Given the description of an element on the screen output the (x, y) to click on. 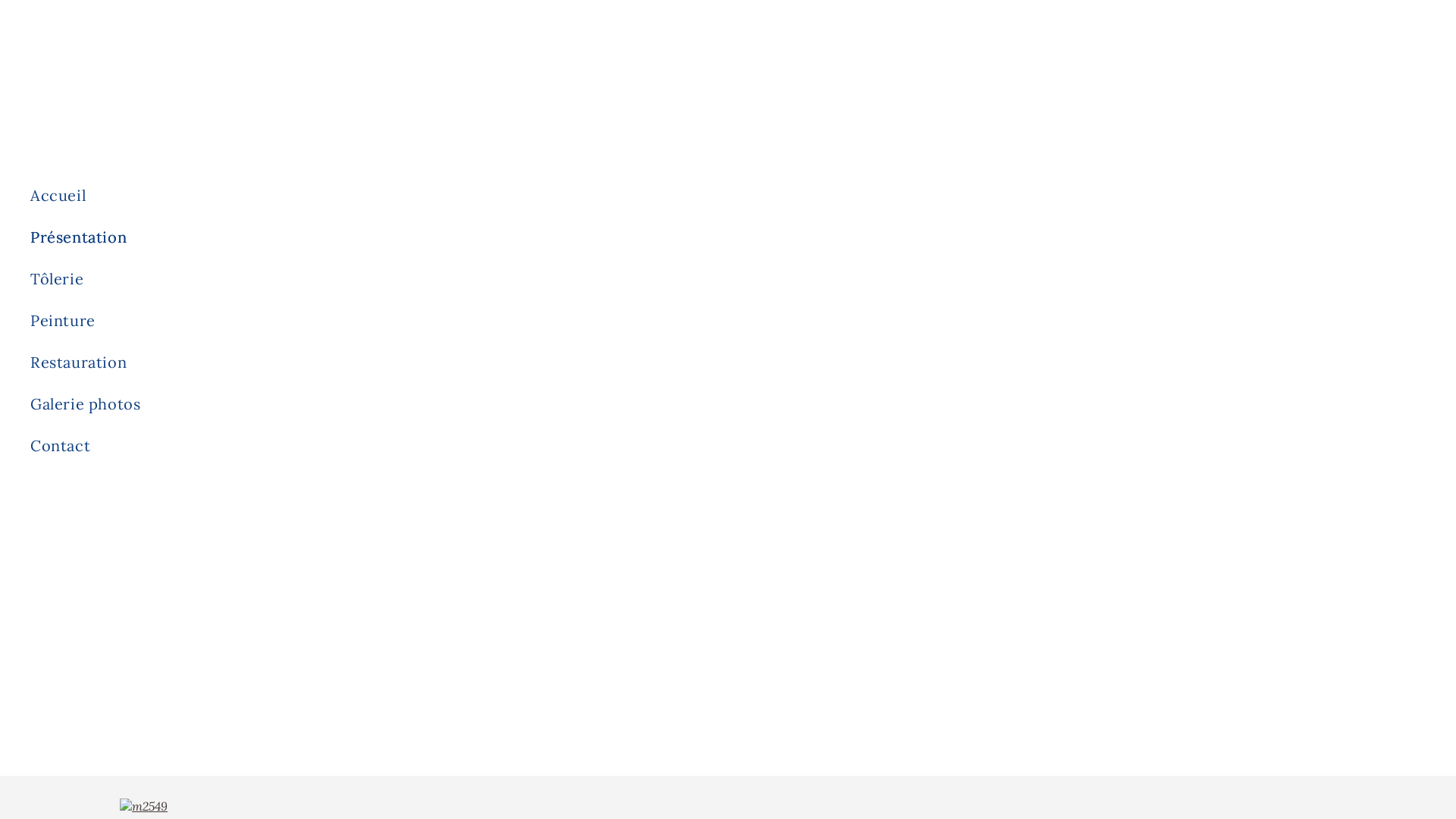
Contact Element type: text (386, 445)
Peinture Element type: text (386, 320)
Accueil Element type: text (386, 195)
Galerie photos Element type: text (386, 403)
Restauration Element type: text (386, 361)
